Given the description of an element on the screen output the (x, y) to click on. 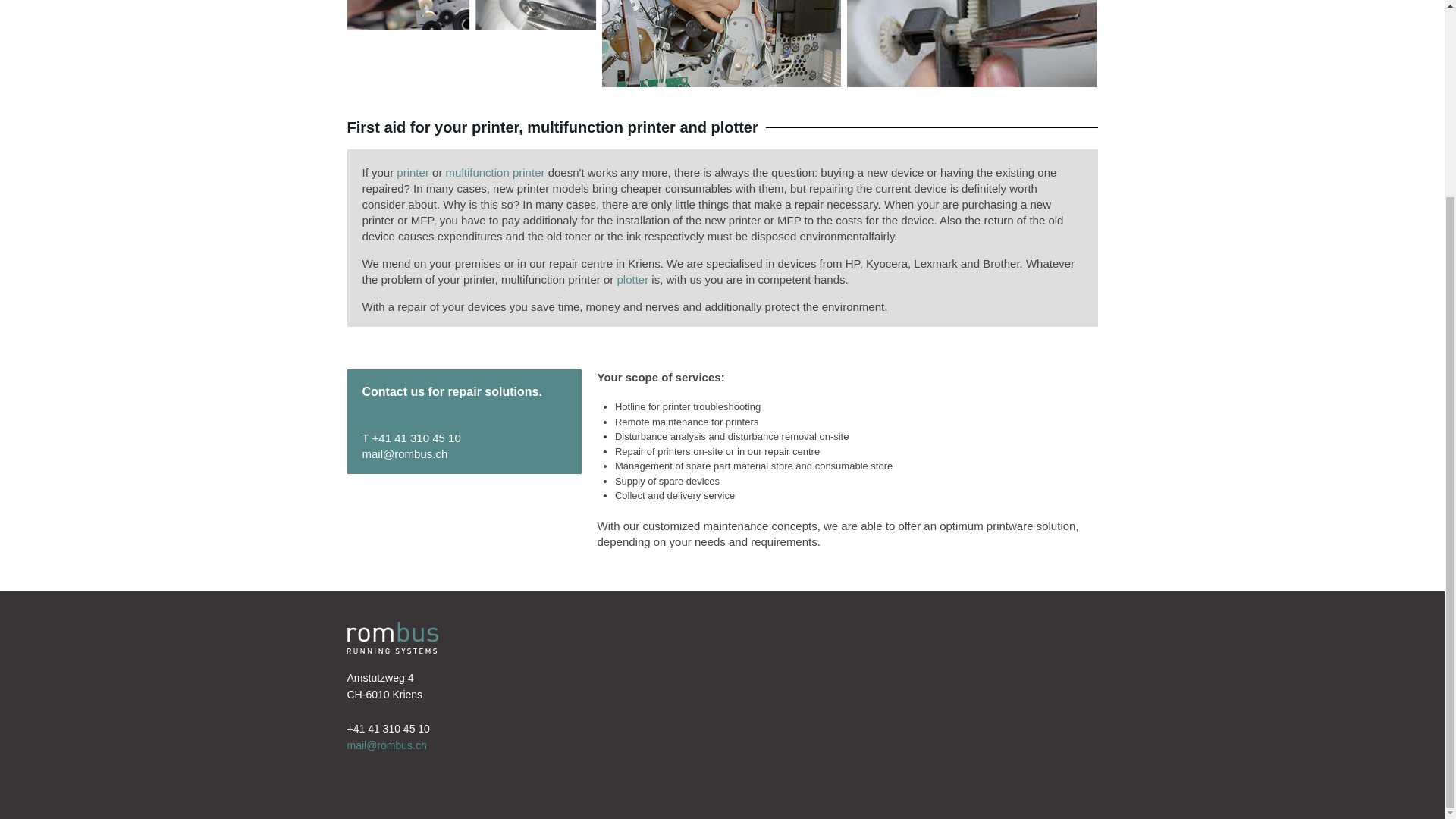
multifunction printer (494, 172)
printer (412, 172)
plotter (633, 278)
